Given the description of an element on the screen output the (x, y) to click on. 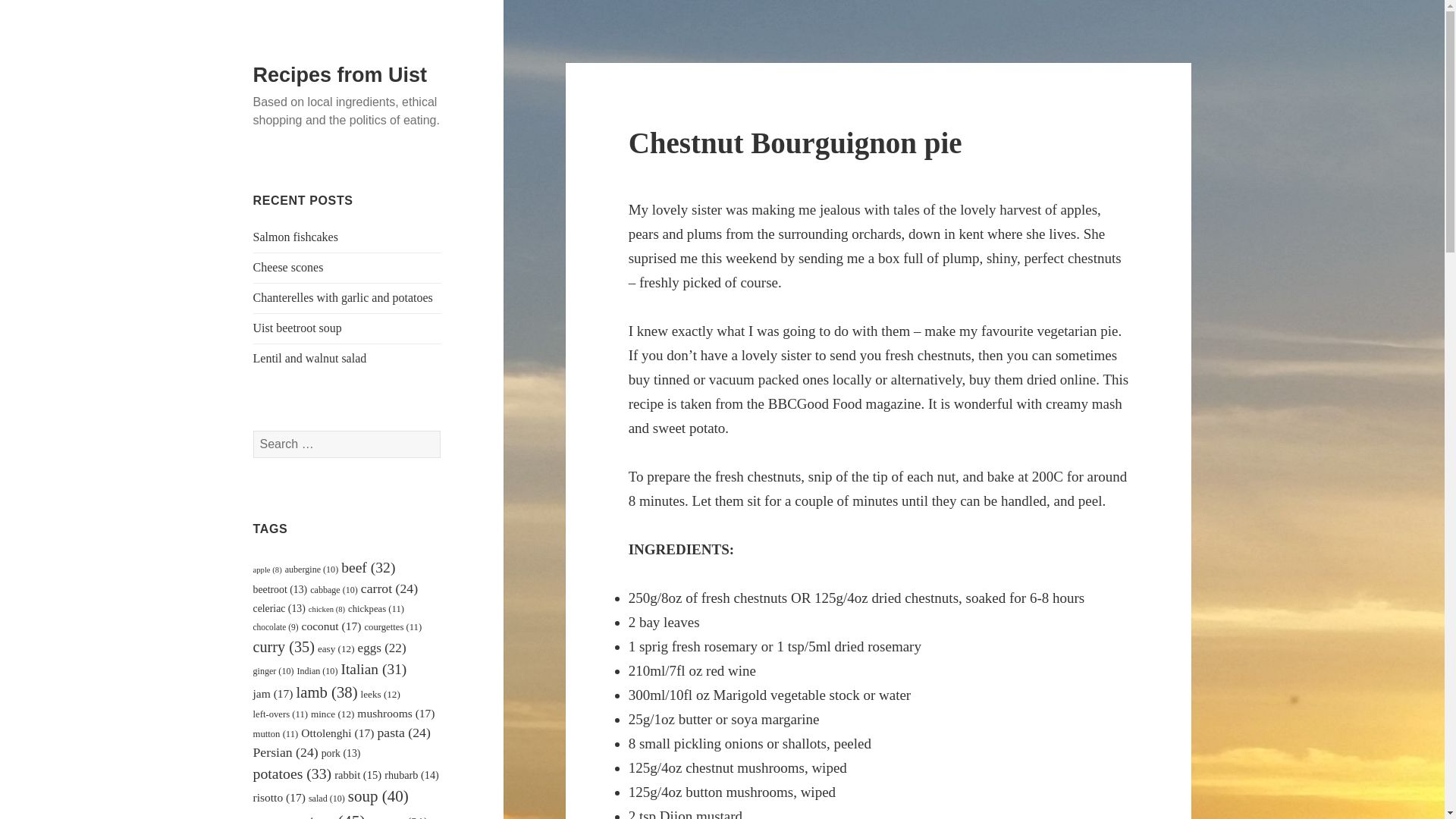
Recipes from Uist (340, 74)
Salmon fishcakes (295, 236)
Uist beetroot soup (297, 327)
Lentil and walnut salad (309, 358)
Chanterelles with garlic and potatoes (342, 297)
Cheese scones (288, 267)
